Given the description of an element on the screen output the (x, y) to click on. 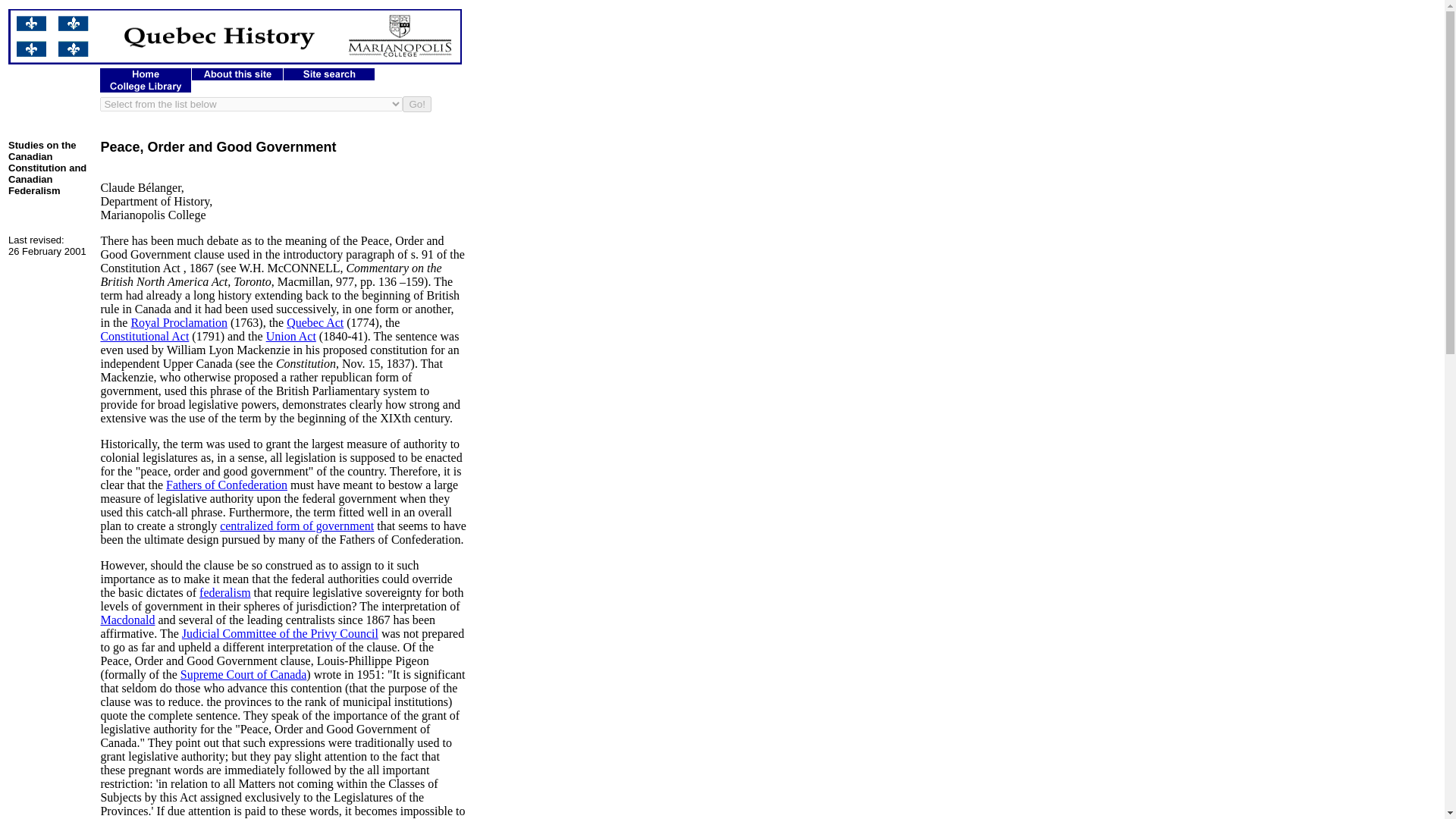
Royal Proclamation (179, 322)
Quebec Act (314, 322)
Go! (416, 104)
Macdonald (127, 619)
Judicial Committee of the Privy Council (280, 633)
Union Act (290, 336)
centralized form of government (296, 525)
federalism (224, 592)
Fathers of Confederation (225, 484)
Supreme Court of Canada (243, 674)
Constitutional Act (144, 336)
